Given the description of an element on the screen output the (x, y) to click on. 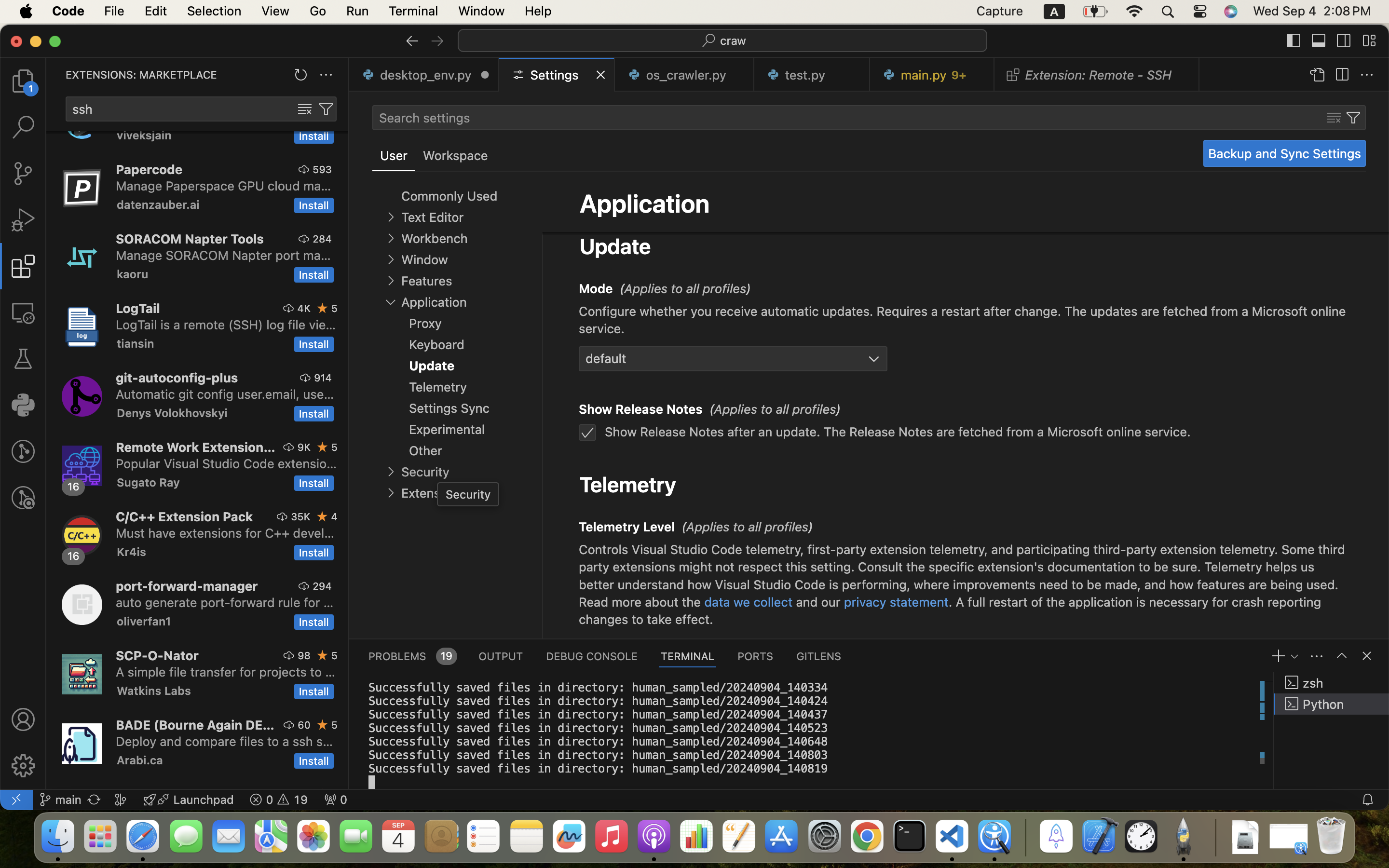
 Element type: AXButton (1366, 655)
0.4285714328289032 Element type: AXDockItem (1024, 836)
 Element type: AXStaticText (325, 108)
Papercode Element type: AXStaticText (149, 169)
Features Element type: AXStaticText (426, 280)
